Given the description of an element on the screen output the (x, y) to click on. 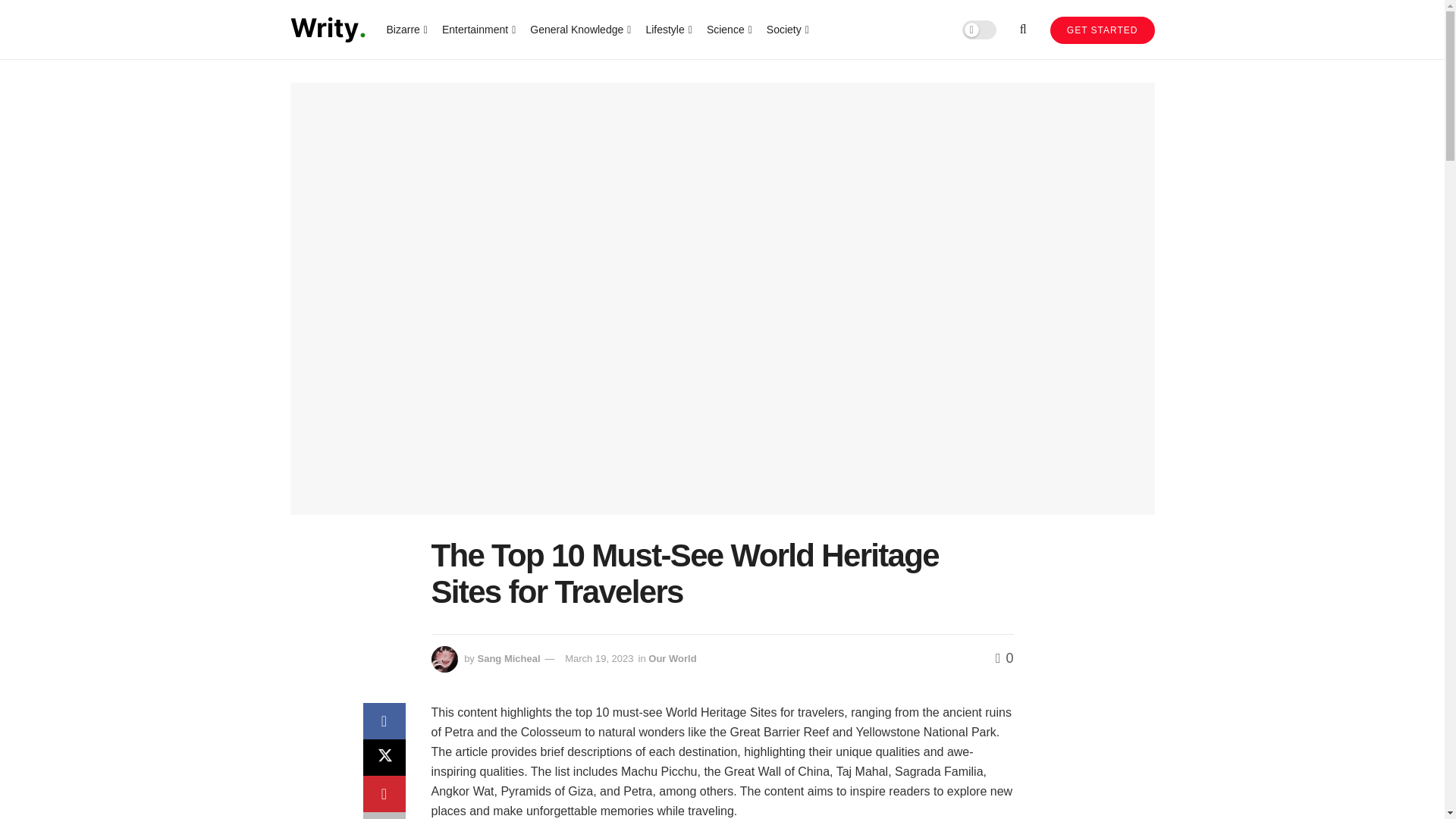
Entertainment (477, 29)
GET STARTED (1101, 30)
Bizarre (406, 29)
Science (727, 29)
Lifestyle (666, 29)
Society (786, 29)
General Knowledge (578, 29)
